Given the description of an element on the screen output the (x, y) to click on. 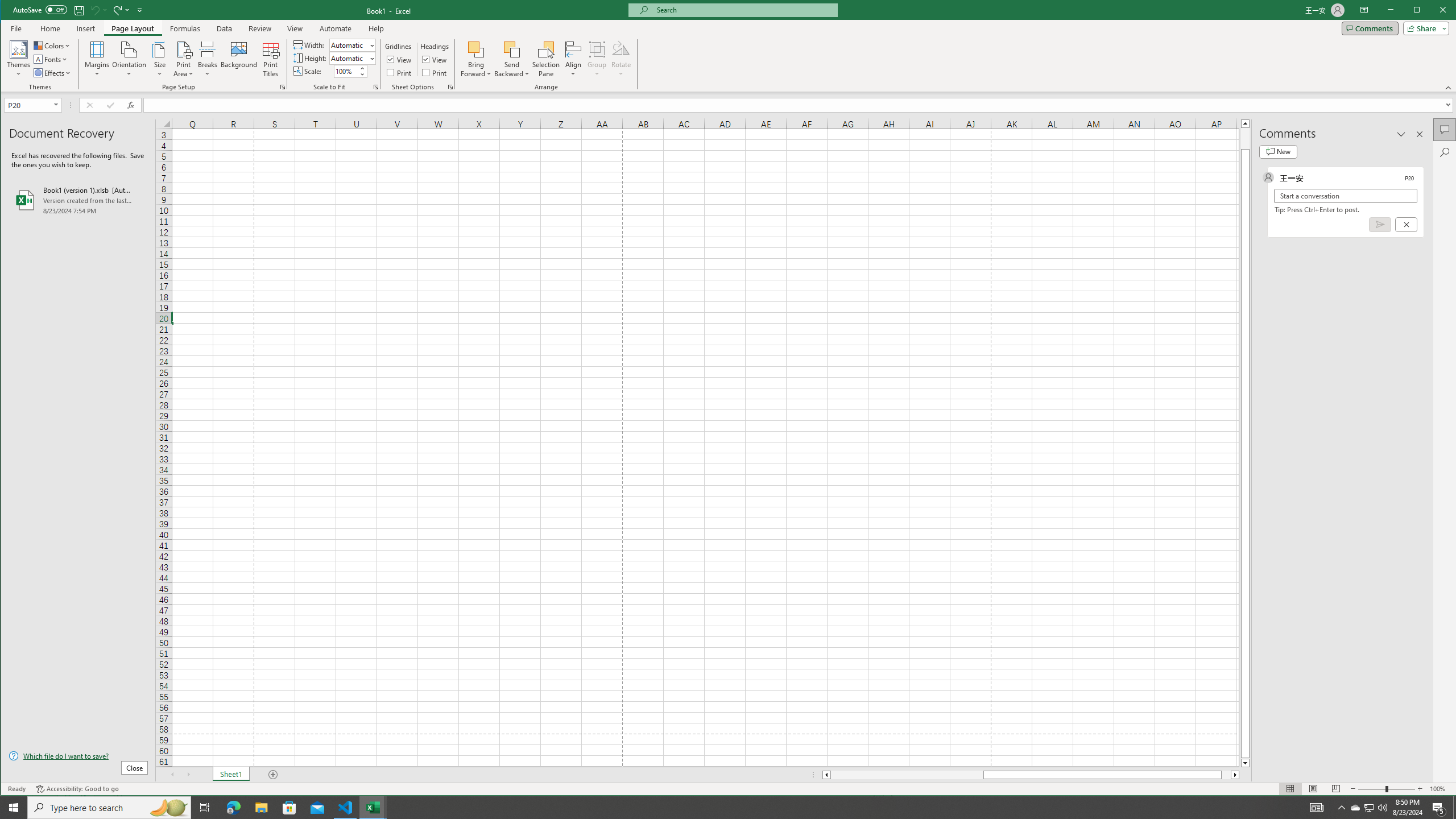
Background... (239, 59)
Page left (906, 774)
Running applications (717, 807)
Colors (53, 45)
Search highlights icon opens search home window (1368, 807)
Send Backward (167, 807)
Selection Pane... (512, 48)
